Given the description of an element on the screen output the (x, y) to click on. 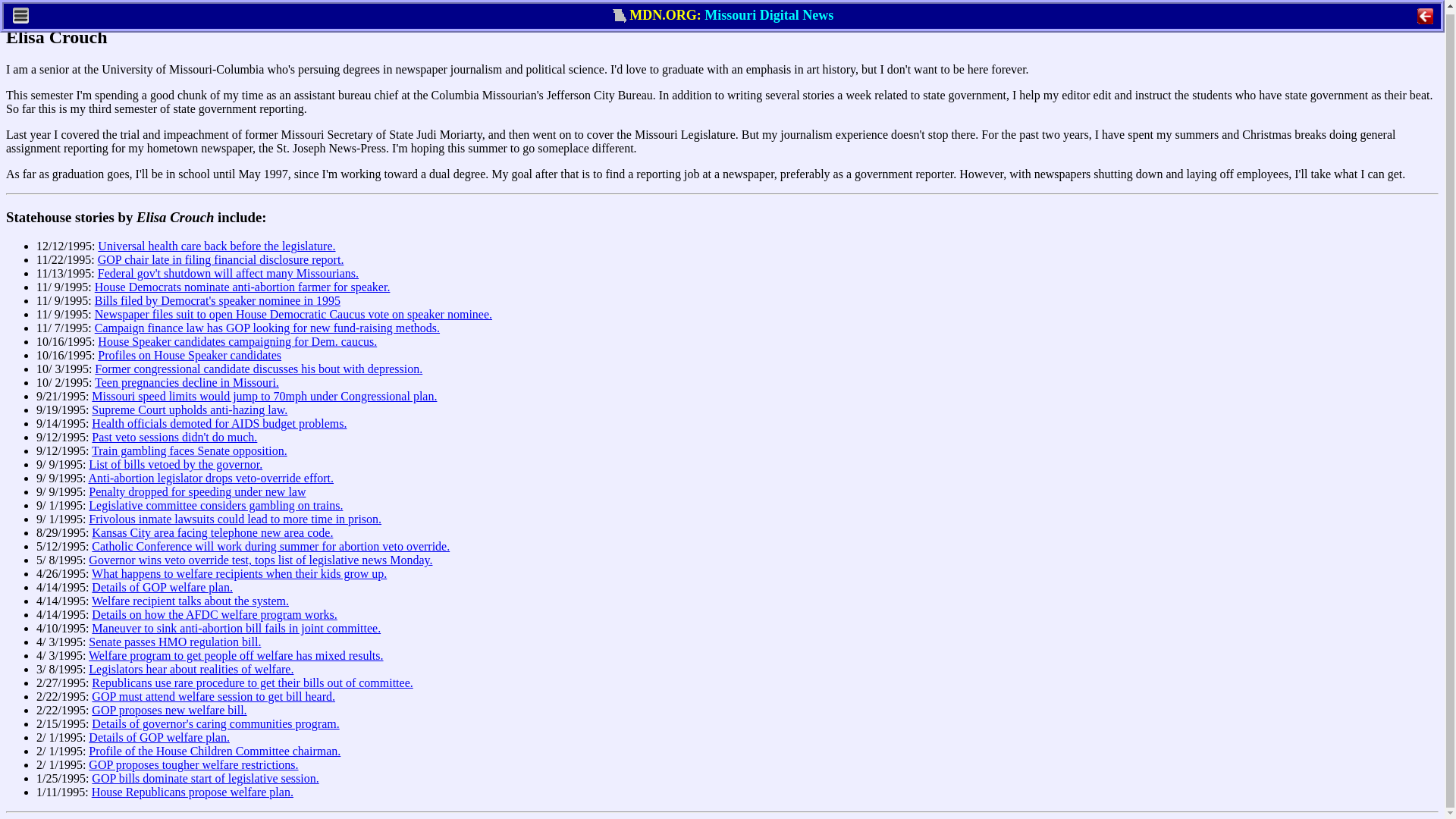
Federal gov't shutdown will affect many Missourians. (227, 273)
Health officials demoted for AIDS budget problems. (218, 422)
Past veto sessions didn't do much. (174, 436)
House Speaker candidates campaigning for Dem. caucus. (237, 341)
Supreme Court upholds anti-hazing law. (188, 409)
Kansas City area facing telephone new area code. (212, 532)
Details on how the AFDC welfare program works. (214, 614)
